Given the description of an element on the screen output the (x, y) to click on. 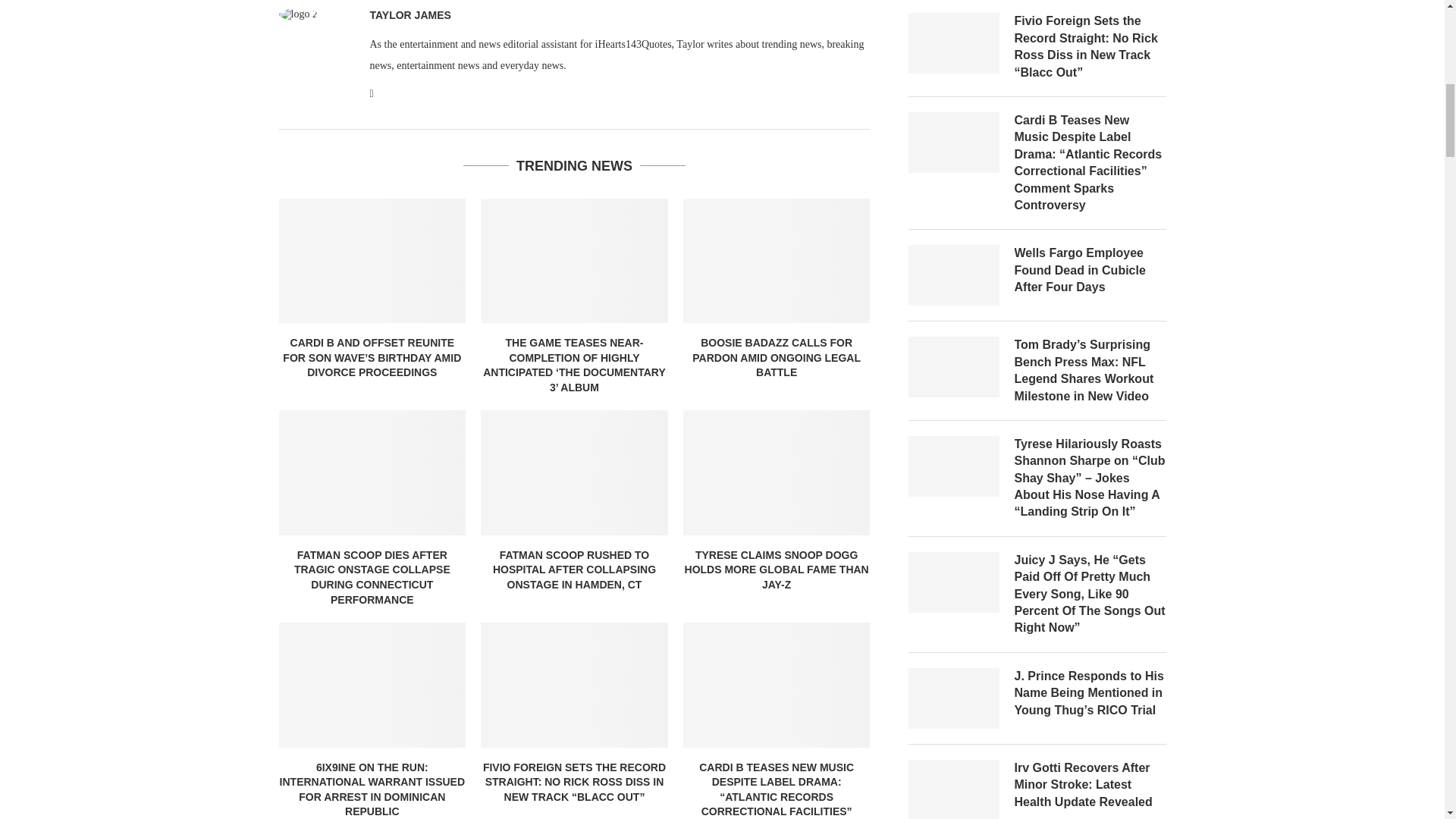
Boosie Badazz Calls for Pardon Amid Ongoing Legal Battle (776, 260)
Tyrese Claims Snoop Dogg Holds More Global Fame Than JAY-Z (776, 472)
Author Taylor James (410, 15)
